Given the description of an element on the screen output the (x, y) to click on. 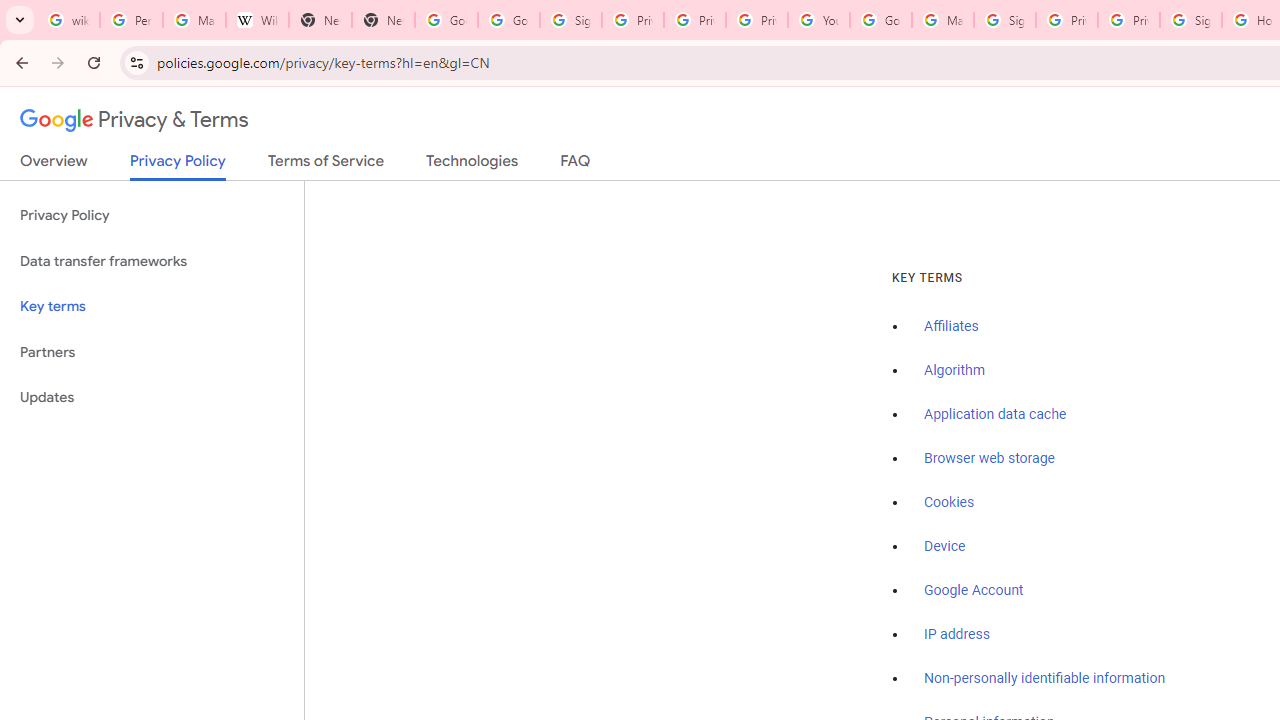
Sign in - Google Accounts (570, 20)
Data transfer frameworks (152, 261)
Google Drive: Sign-in (508, 20)
Google Account Help (880, 20)
Wikipedia:Edit requests - Wikipedia (257, 20)
Affiliates (951, 327)
Browser web storage (989, 459)
Personalization & Google Search results - Google Search Help (130, 20)
